Given the description of an element on the screen output the (x, y) to click on. 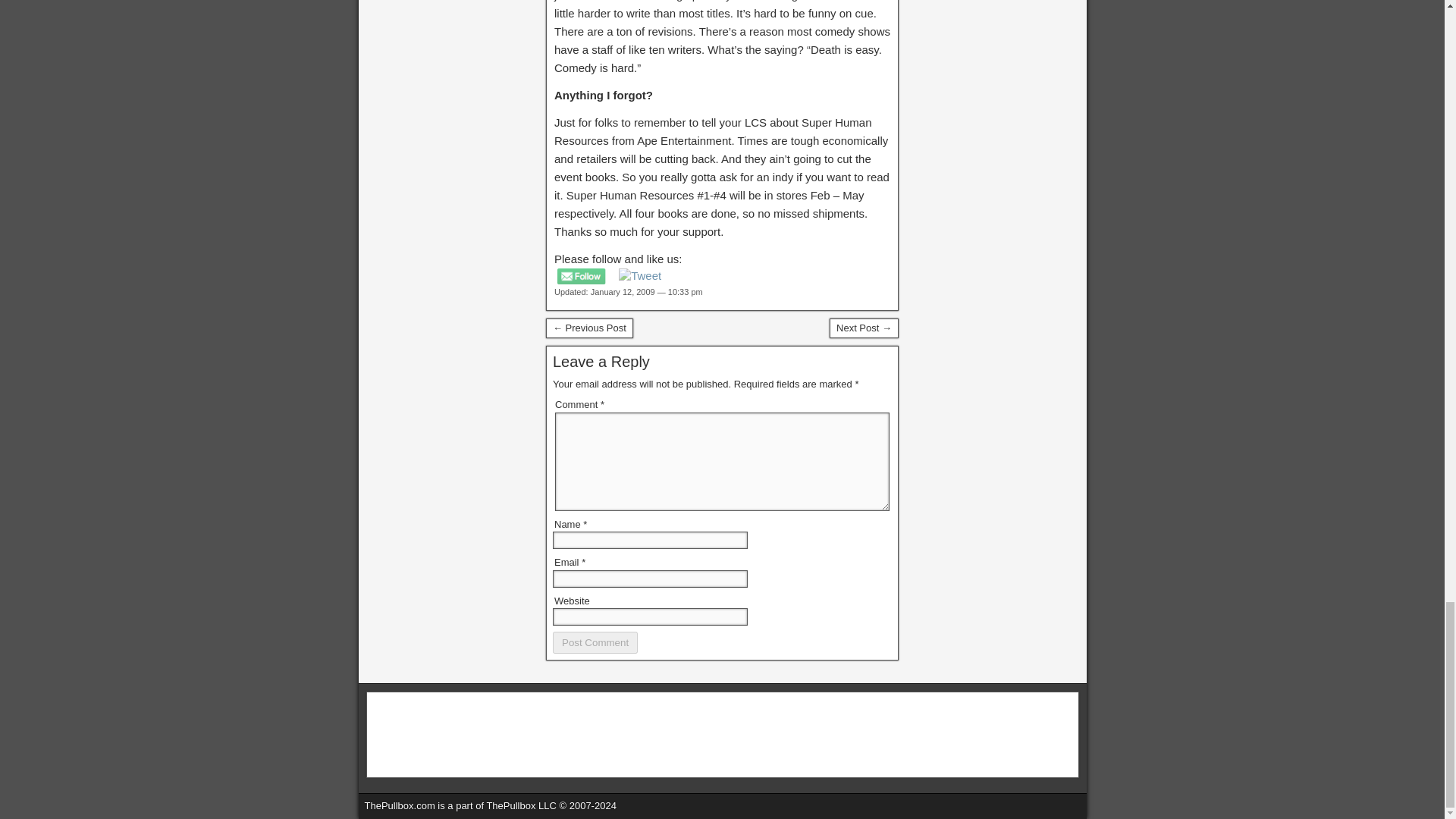
Post Comment (595, 642)
Tweet (639, 275)
Post Comment (595, 642)
